Given the description of an element on the screen output the (x, y) to click on. 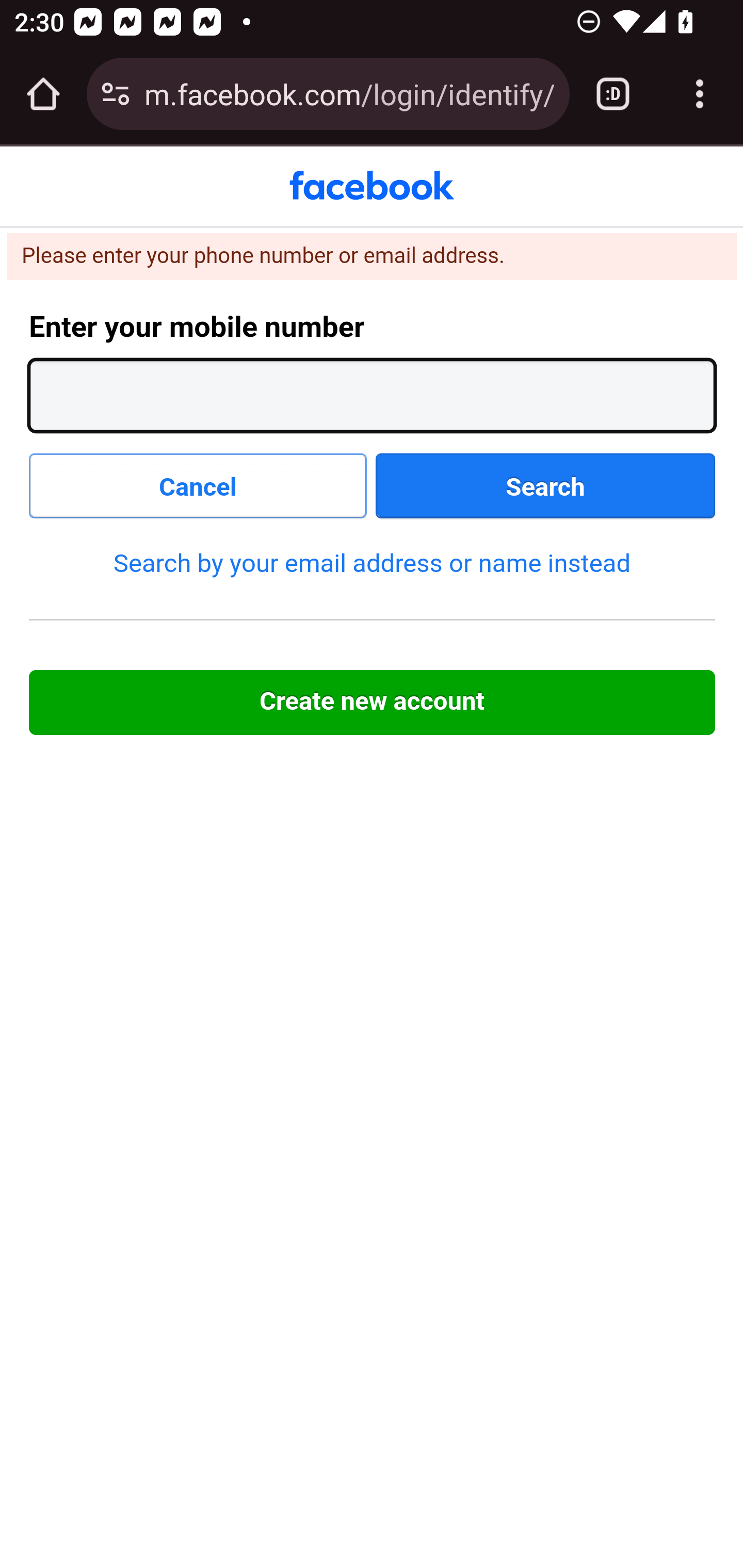
Open the home page (43, 93)
Connection is secure (115, 93)
Switch or close tabs (612, 93)
Customize and control Google Chrome (699, 93)
Facebook (371, 185)
Cancel (198, 485)
Search (545, 485)
Search by your email address or name instead (372, 562)
Create new account (372, 701)
